Given the description of an element on the screen output the (x, y) to click on. 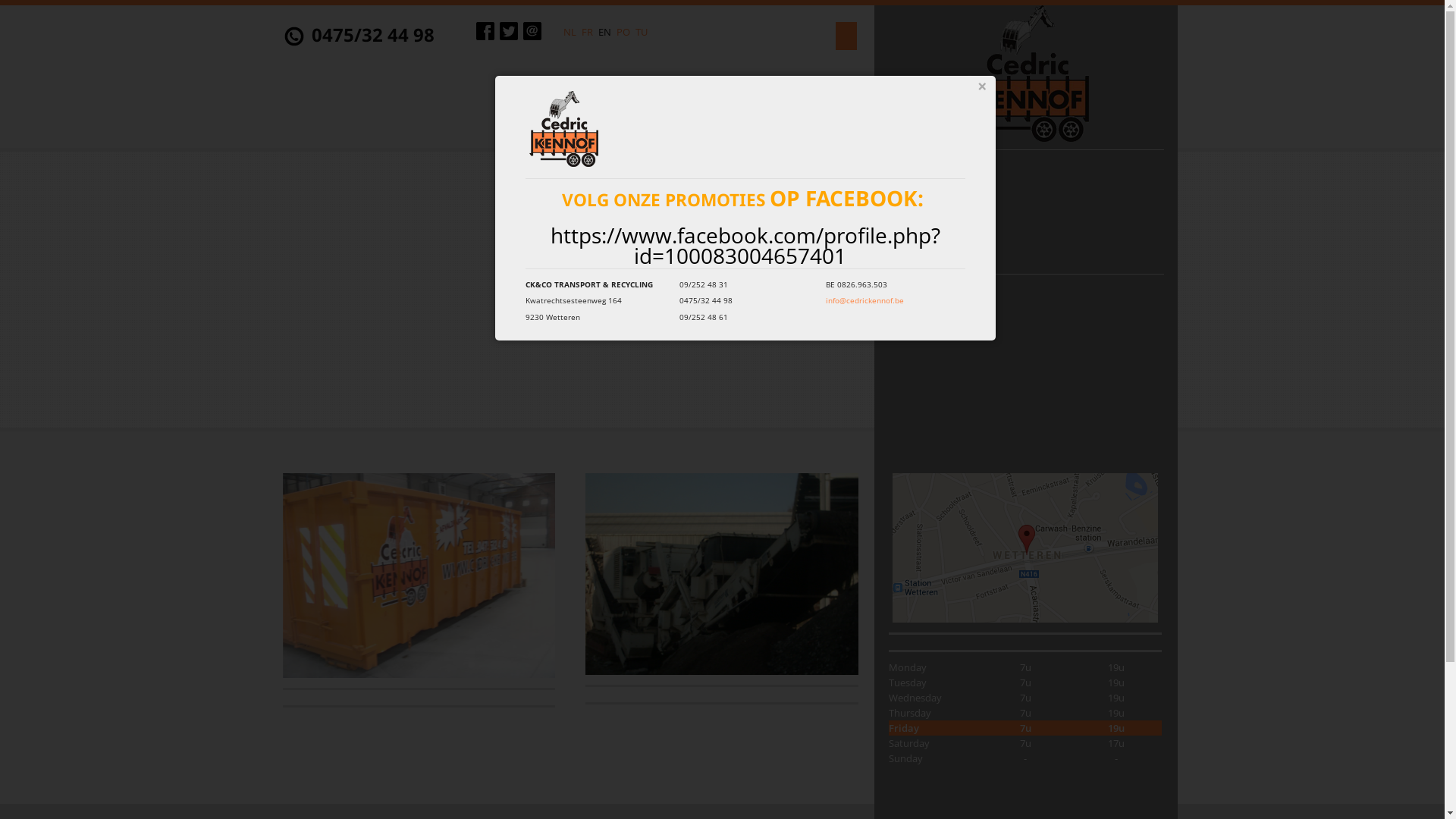
https://www.facebook.com/profile.php?id=100083004657401 Element type: text (745, 244)
TU Element type: text (641, 32)
EN Element type: text (603, 32)
info@cedrickennof.be Element type: text (864, 299)
FR Element type: text (586, 32)
home Element type: hover (1025, 73)
PO Element type: text (622, 32)
NL Element type: text (568, 32)
